Given the description of an element on the screen output the (x, y) to click on. 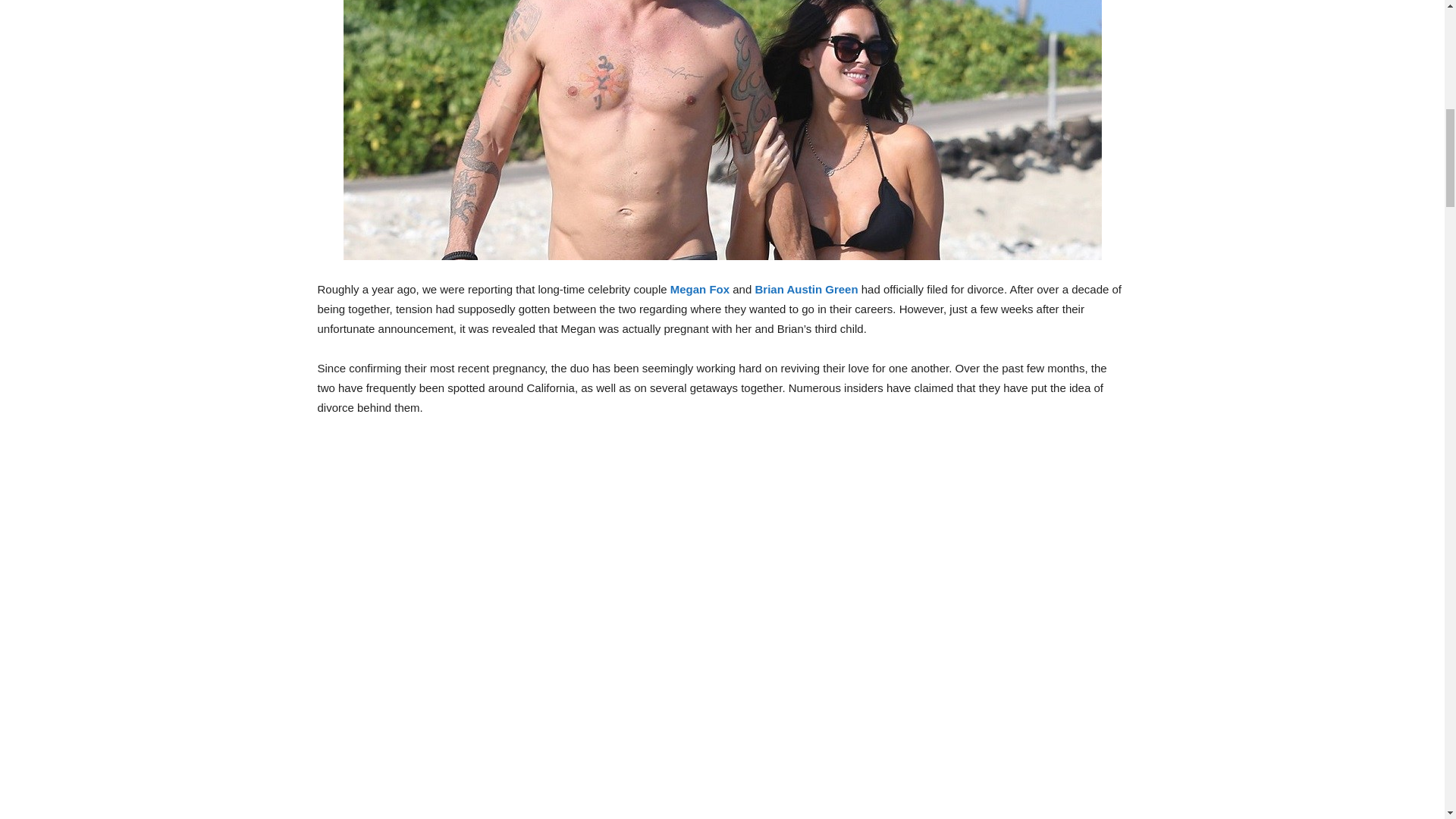
Brian Austin Green (805, 288)
Brian Austin Green (805, 288)
Megan Fox (699, 288)
